Given the description of an element on the screen output the (x, y) to click on. 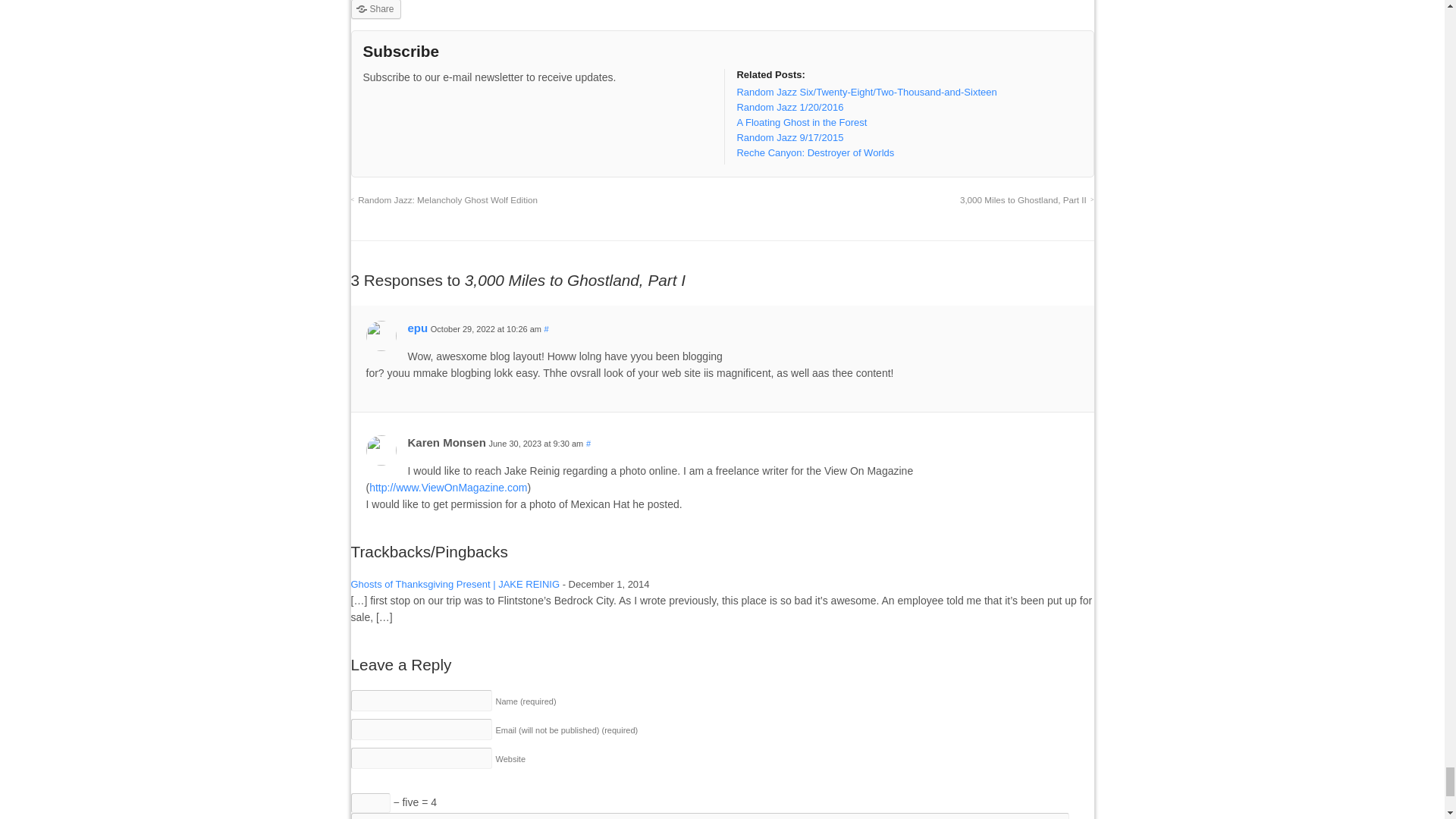
RSS (373, 106)
Direct link to this comment (588, 442)
A Floating Ghost in the Forest (801, 122)
Direct link to this comment (546, 328)
Reche Canyon: Destroyer of Worlds (814, 152)
